Given the description of an element on the screen output the (x, y) to click on. 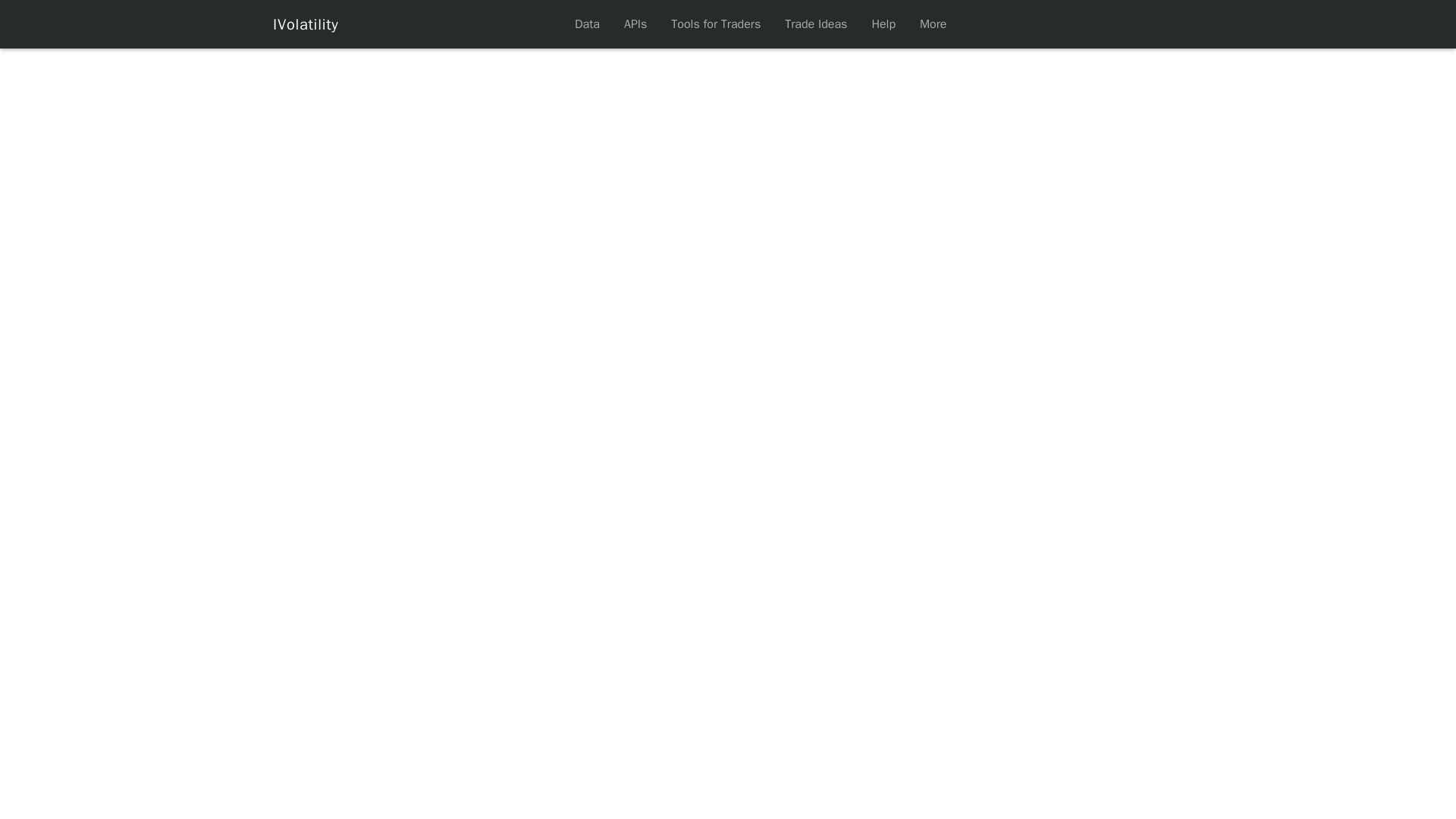
Help (883, 24)
Tools for Traders (716, 24)
Data (586, 24)
IVolatility (306, 24)
APIs (635, 24)
More (932, 24)
Trade Ideas (816, 24)
